Given the description of an element on the screen output the (x, y) to click on. 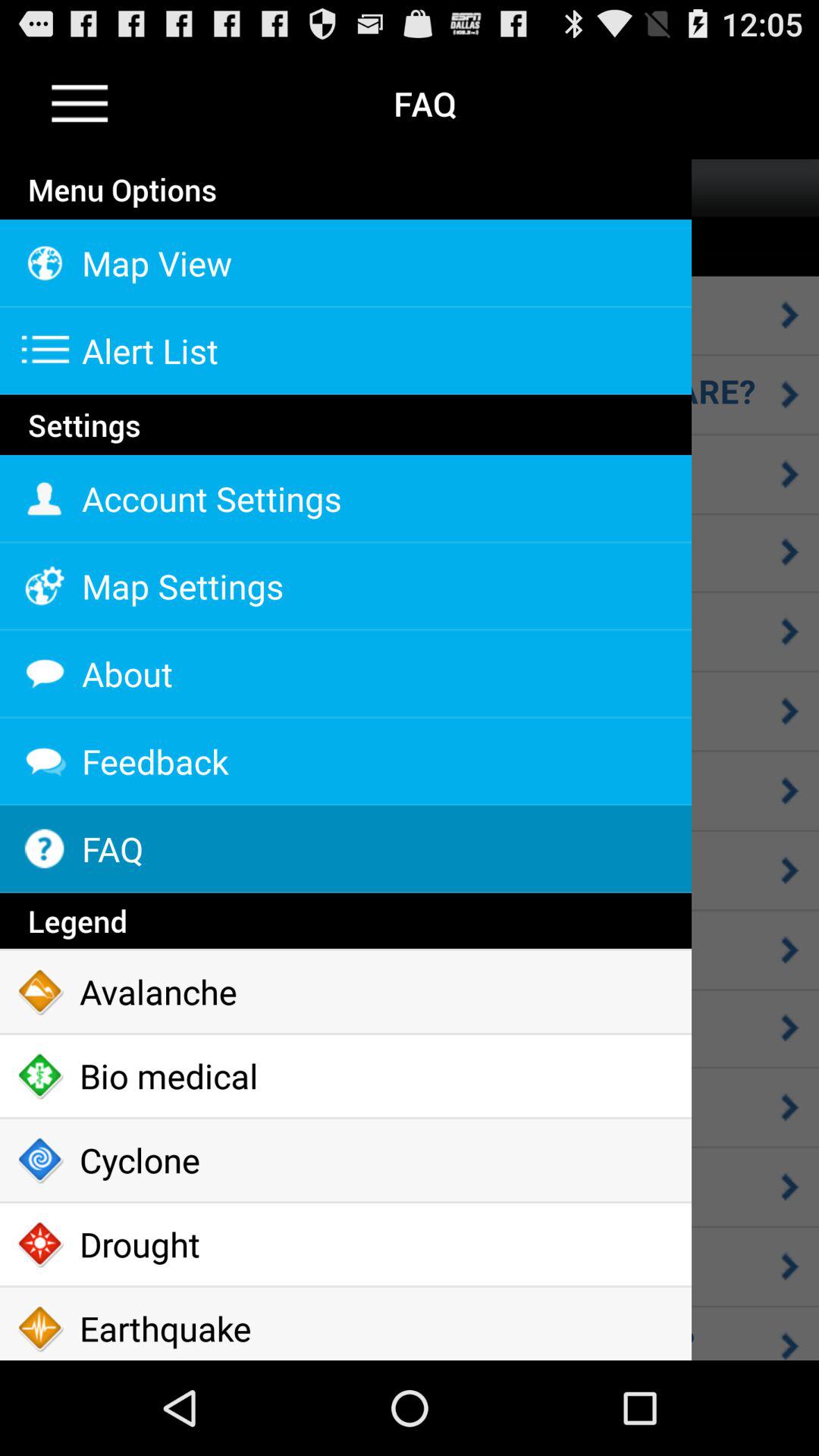
click the about icon (345, 673)
